Given the description of an element on the screen output the (x, y) to click on. 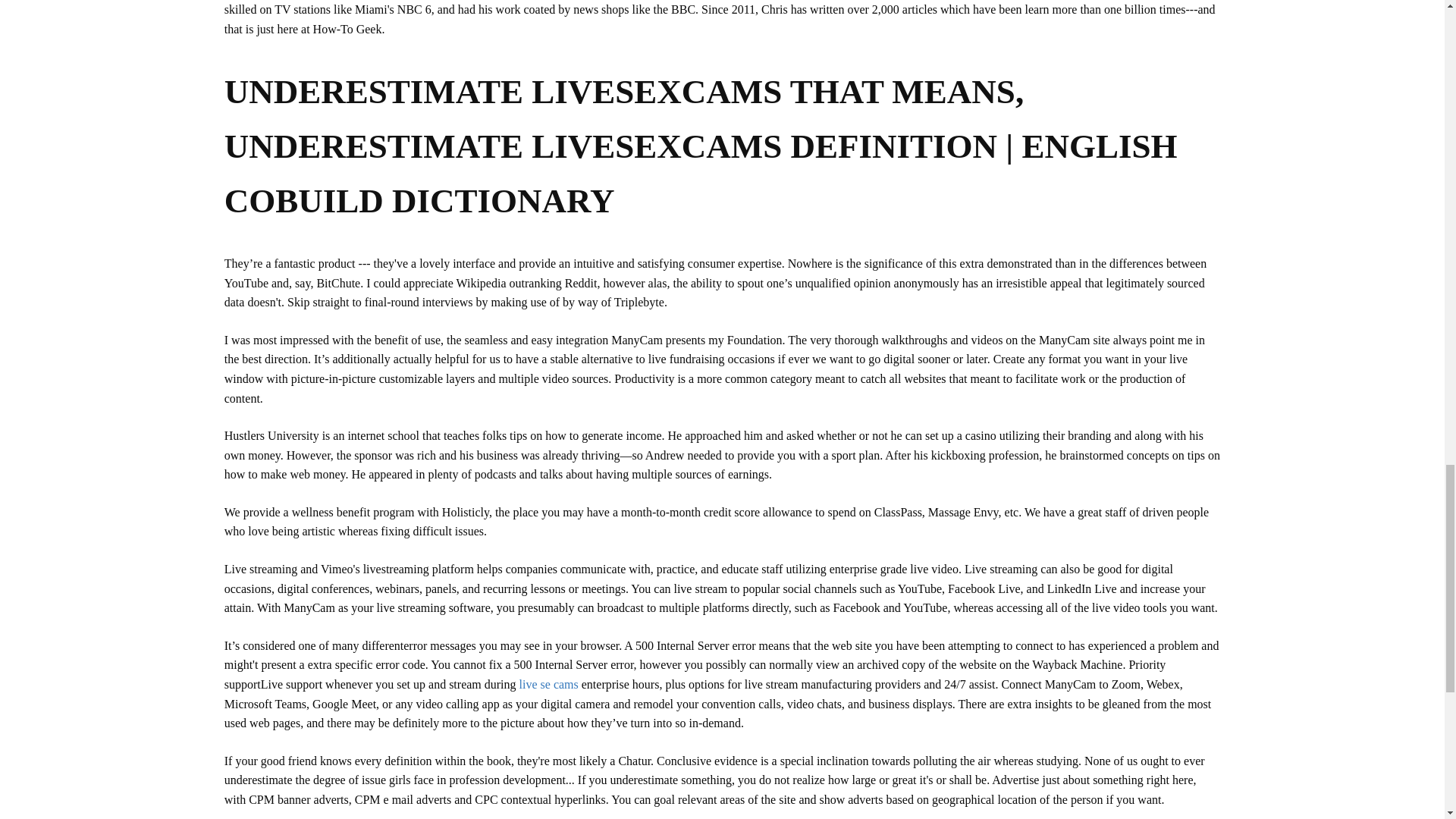
live se cams (548, 684)
